Given the description of an element on the screen output the (x, y) to click on. 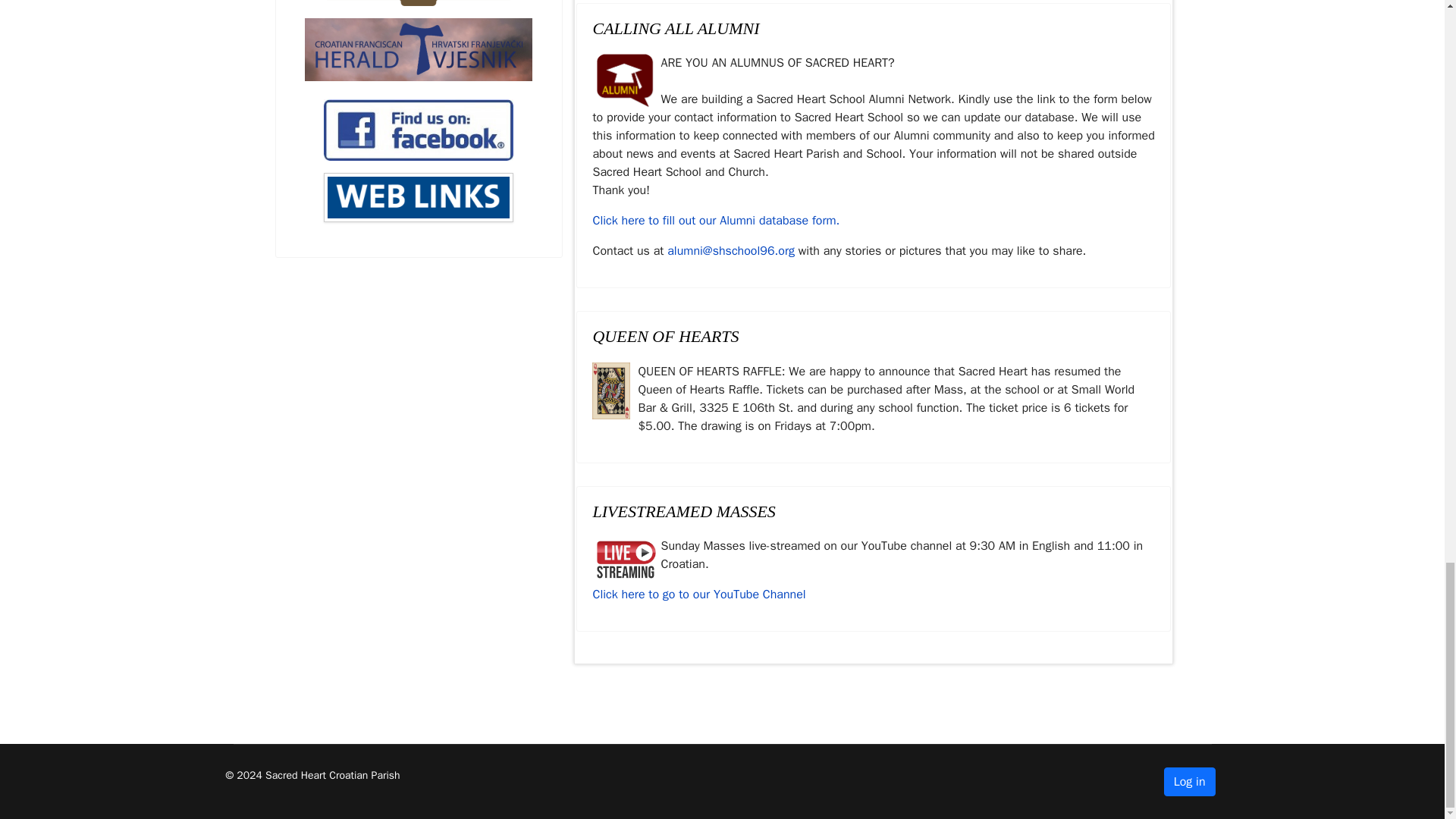
Click here to fill out our Alumni database form. (716, 220)
Click here to go to our YouTube Channel (698, 594)
Page 3 (873, 398)
Log in (1189, 781)
